Given the description of an element on the screen output the (x, y) to click on. 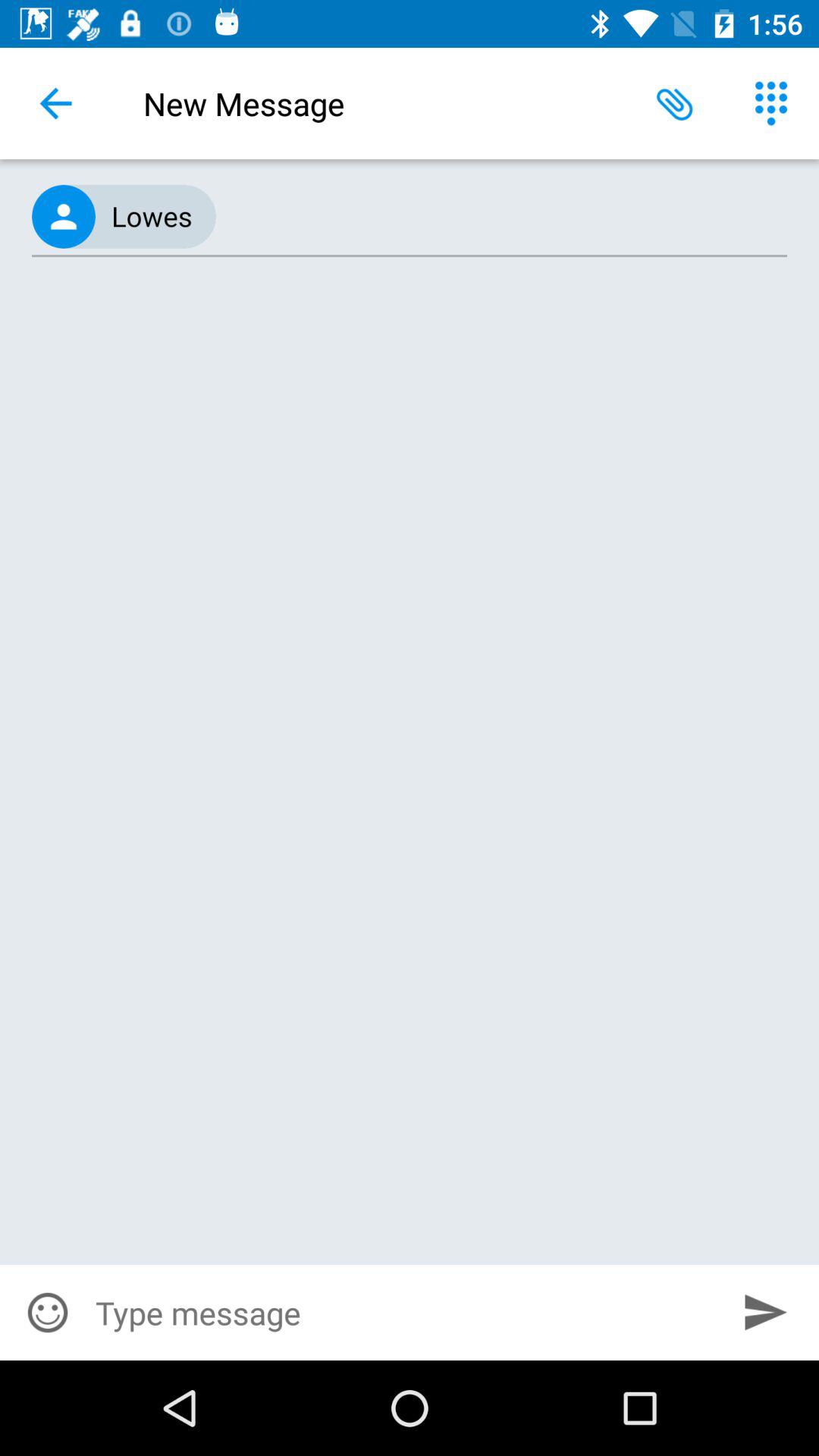
scroll to (415) 486-8611,  icon (409, 216)
